Given the description of an element on the screen output the (x, y) to click on. 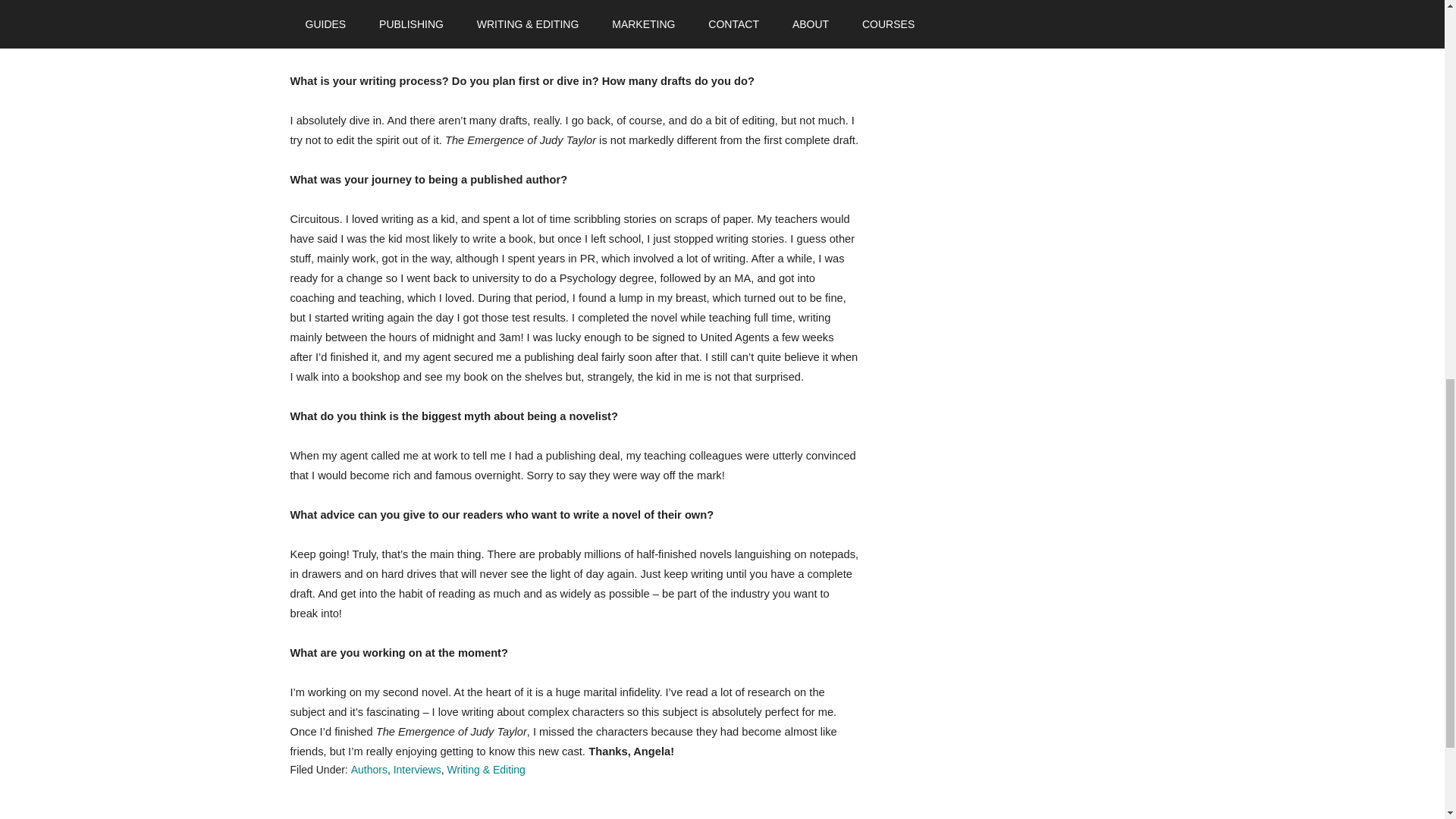
Authors (368, 769)
Interviews (417, 769)
